Given the description of an element on the screen output the (x, y) to click on. 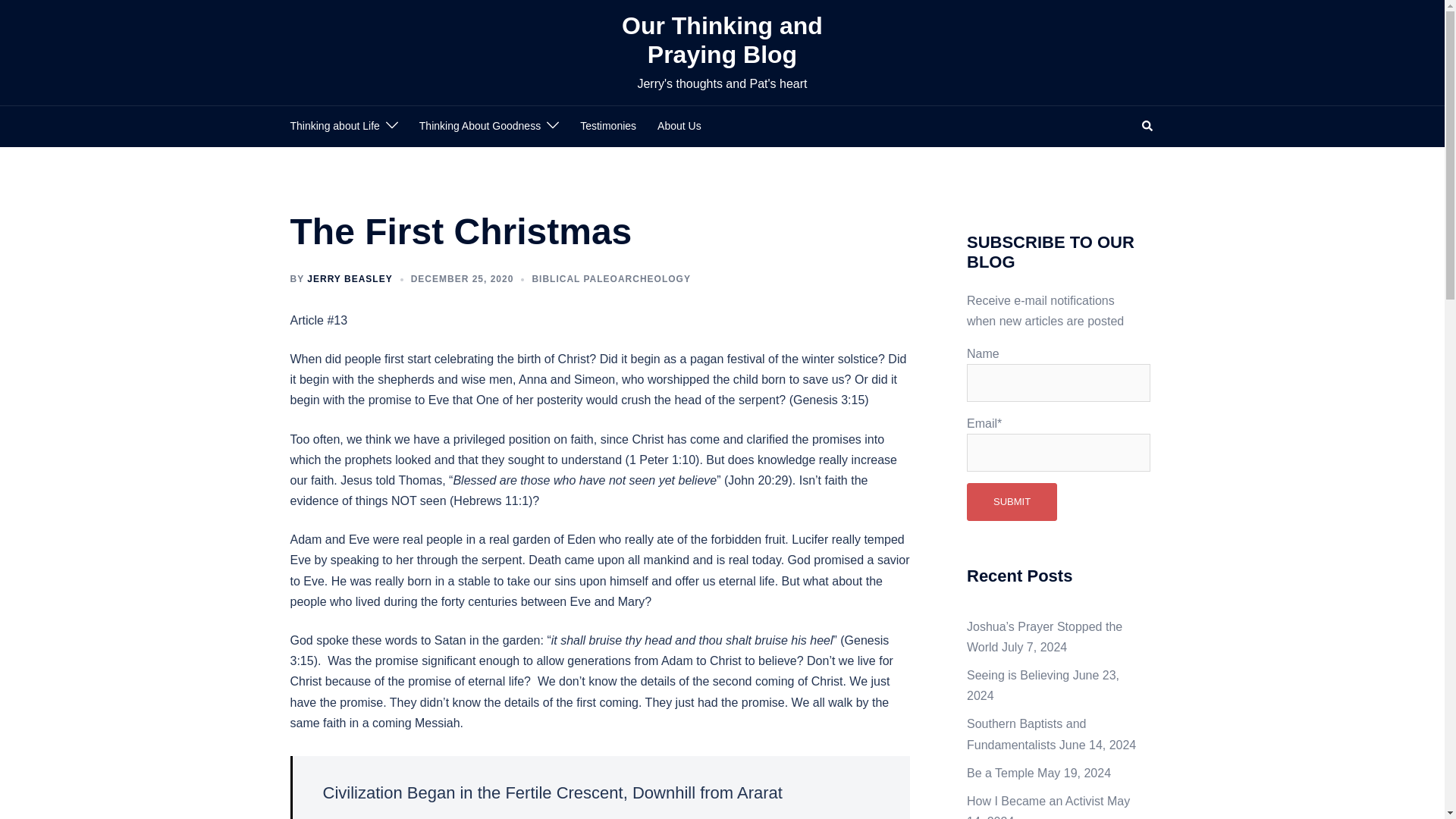
How I Became an Activist (1034, 800)
About Us (679, 126)
Southern Baptists and Fundamentalists (1026, 734)
Testimonies (607, 126)
DECEMBER 25, 2020 (461, 278)
BIBLICAL PALEOARCHEOLOGY (610, 278)
Be a Temple (999, 772)
Submit (1011, 501)
Submit (1011, 501)
Our Thinking and Praying Blog (721, 39)
Thinking about Life (333, 126)
JERRY BEASLEY (349, 278)
Search (1147, 126)
Thinking About Goodness (479, 126)
Seeing is Believing (1017, 675)
